Given the description of an element on the screen output the (x, y) to click on. 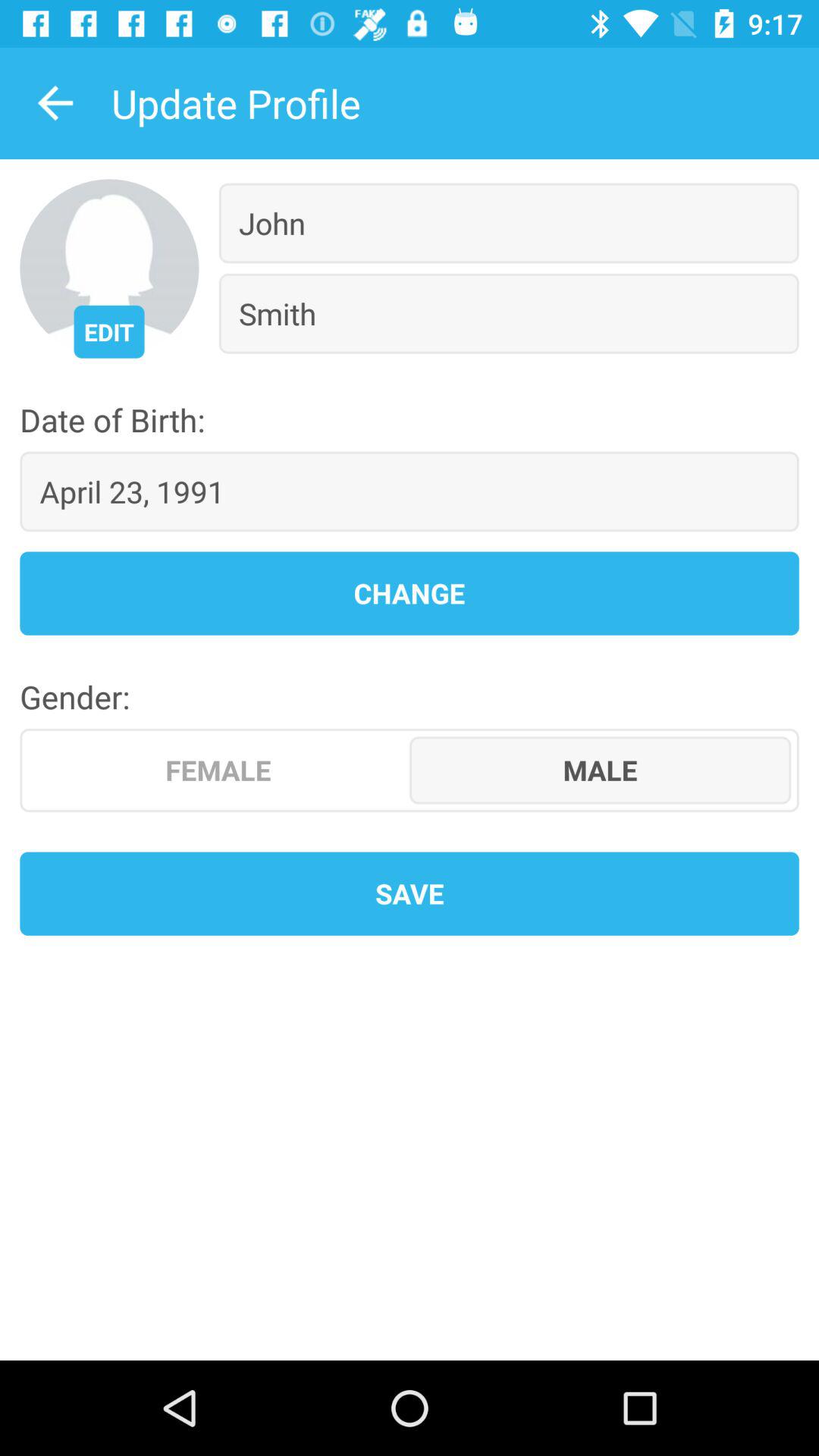
launch the icon below the john item (508, 313)
